Given the description of an element on the screen output the (x, y) to click on. 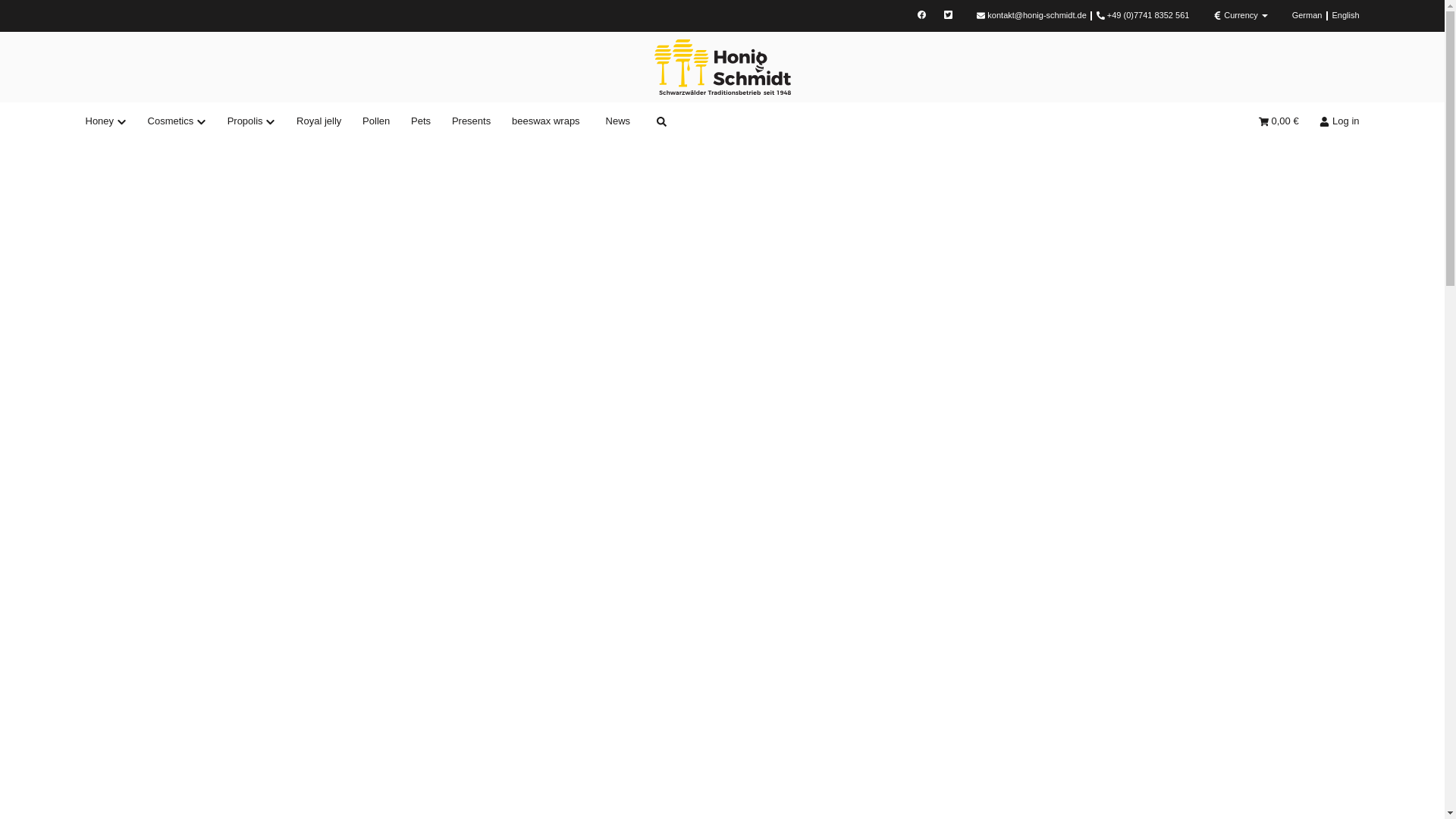
beeswax wraps (544, 121)
English (1345, 15)
Presents (470, 121)
Facebook (921, 15)
Please select a currency. (1240, 15)
Royal jelly (318, 121)
Log in (1333, 121)
German (1307, 15)
Propolis (250, 121)
News (617, 120)
